Given the description of an element on the screen output the (x, y) to click on. 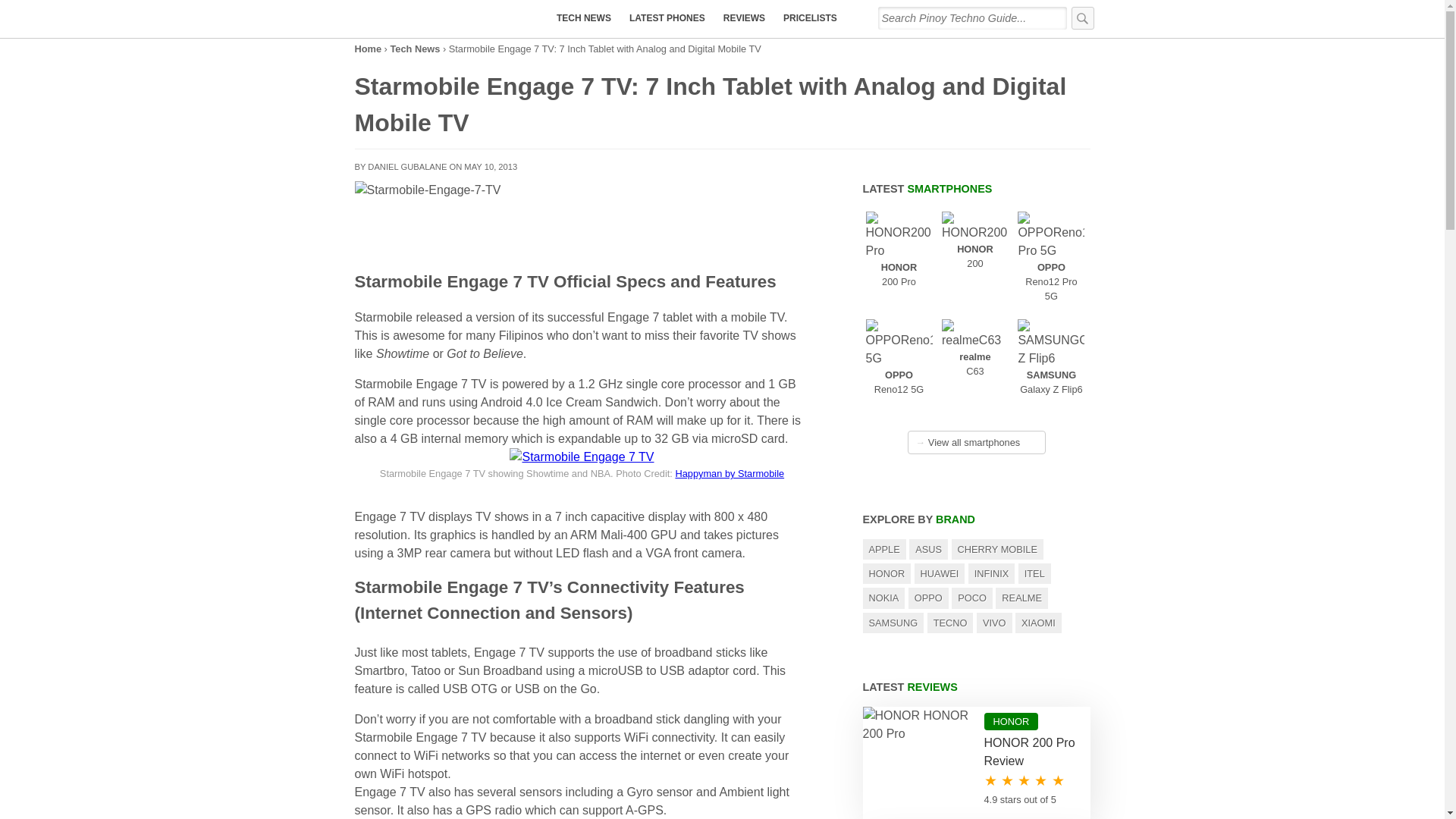
TECH NEWS (583, 18)
Full specs of HONOR 200 (974, 242)
Tech News (414, 48)
Home (904, 374)
PRICELISTS (368, 48)
REVIEWS (1066, 374)
